Given the description of an element on the screen output the (x, y) to click on. 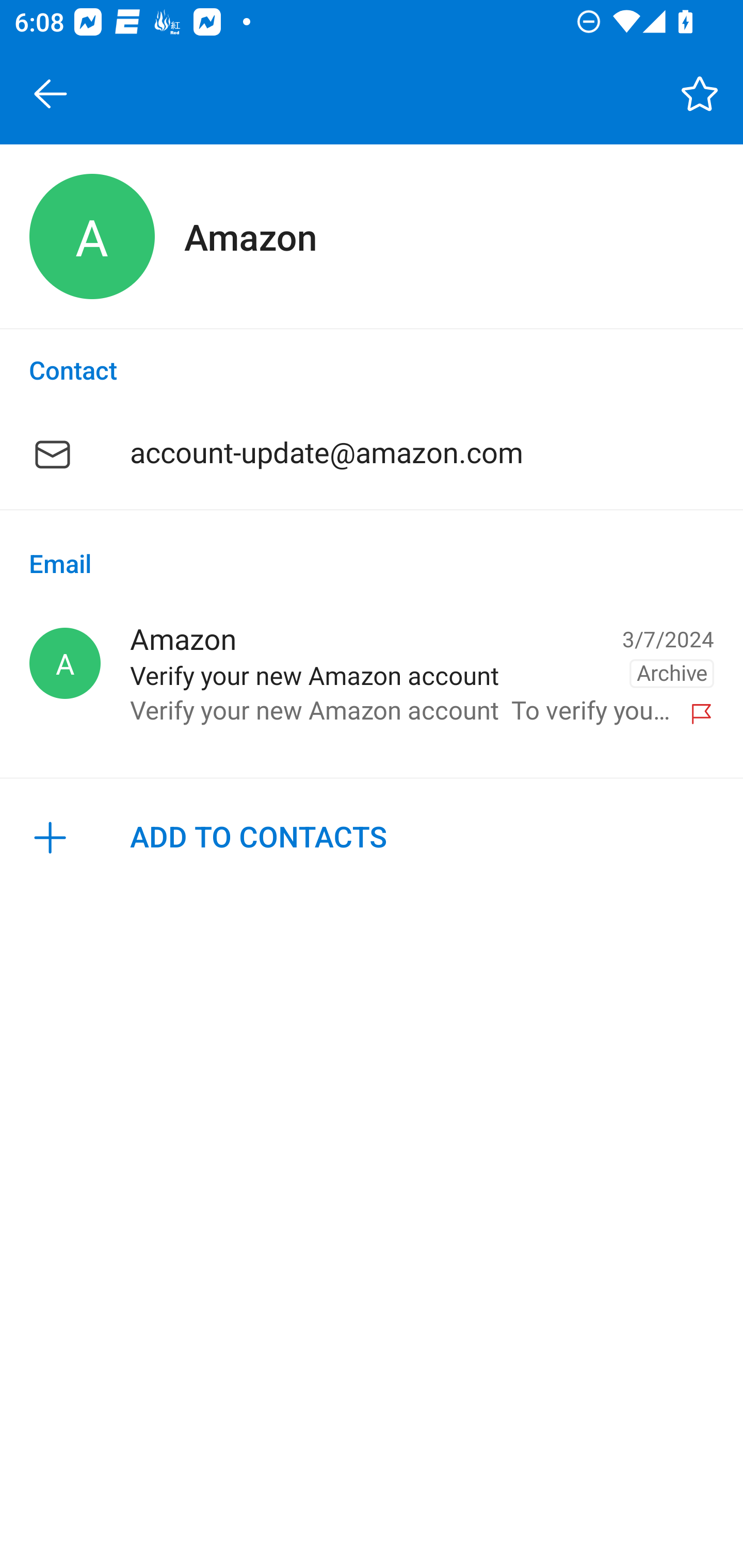
Back (50, 93)
Add to favorites (699, 93)
ADD TO CONTACTS (371, 837)
